Given the description of an element on the screen output the (x, y) to click on. 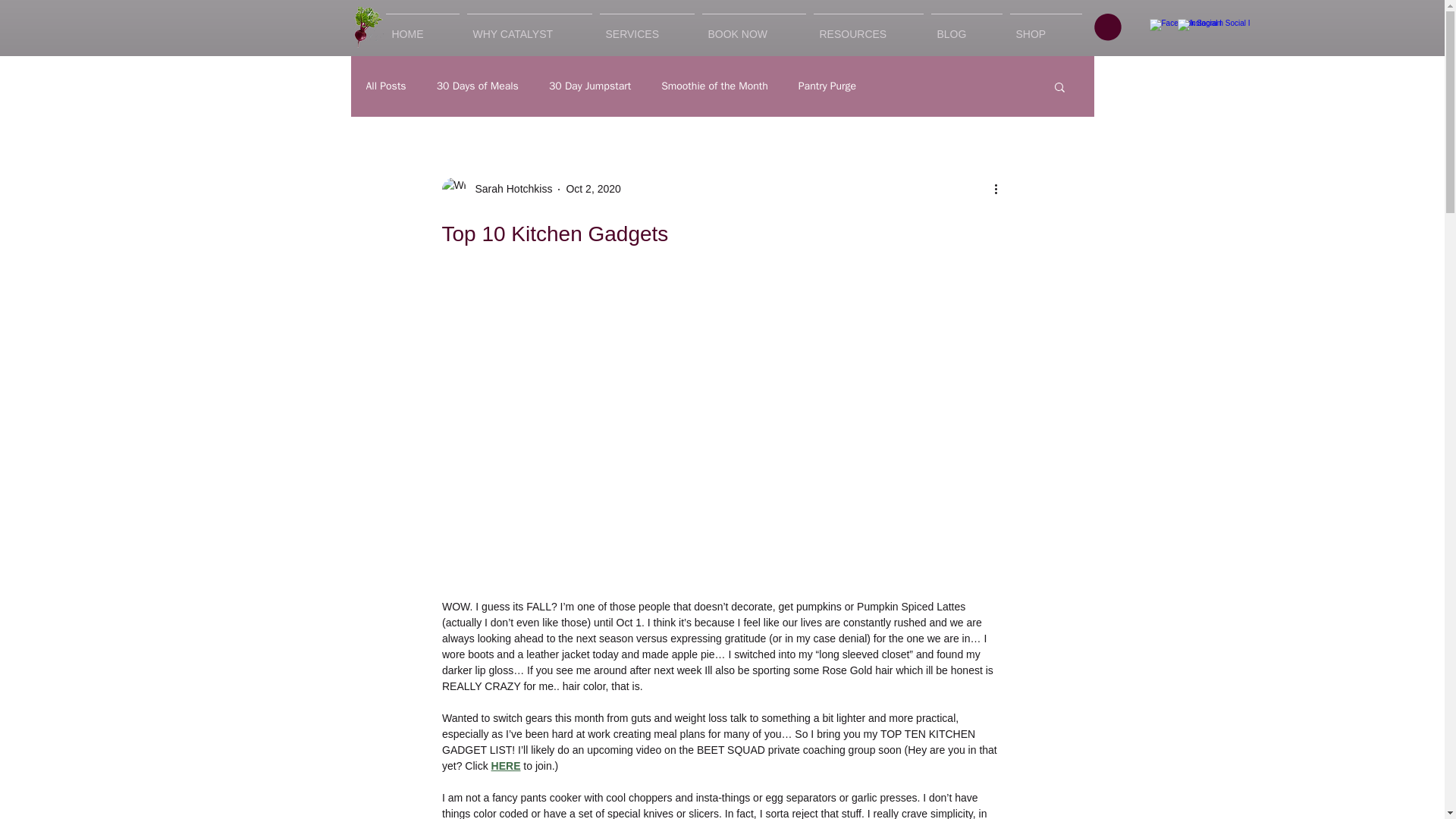
BLOG (966, 26)
SERVICES (646, 26)
HOME (422, 26)
RESOURCES (868, 26)
HERE (504, 766)
30 Days of Meals (477, 86)
WHY CATALYST (529, 26)
Smoothie of the Month (714, 86)
SHOP (1045, 26)
Sarah Hotchkiss (508, 188)
